Given the description of an element on the screen output the (x, y) to click on. 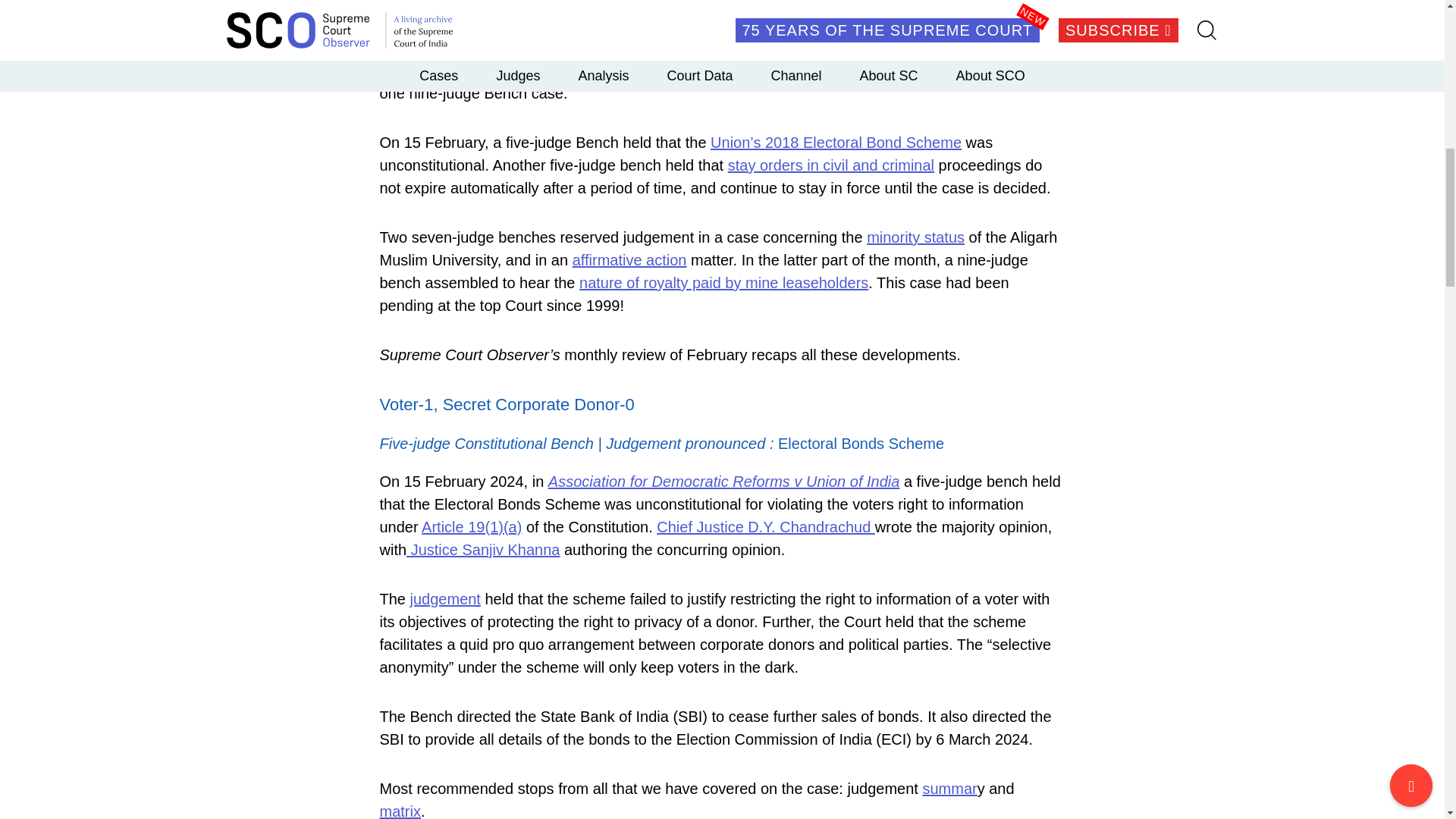
Justice Sanjiv Khanna (482, 549)
Association for Democratic Reforms v Union of India (723, 481)
minority status (914, 237)
affirmative action (629, 259)
Chief Justice D.Y. Chandrachud (765, 526)
stay orders in civil and criminal (831, 165)
judgement (445, 598)
nature of royalty paid by mine leaseholders (723, 282)
